Given the description of an element on the screen output the (x, y) to click on. 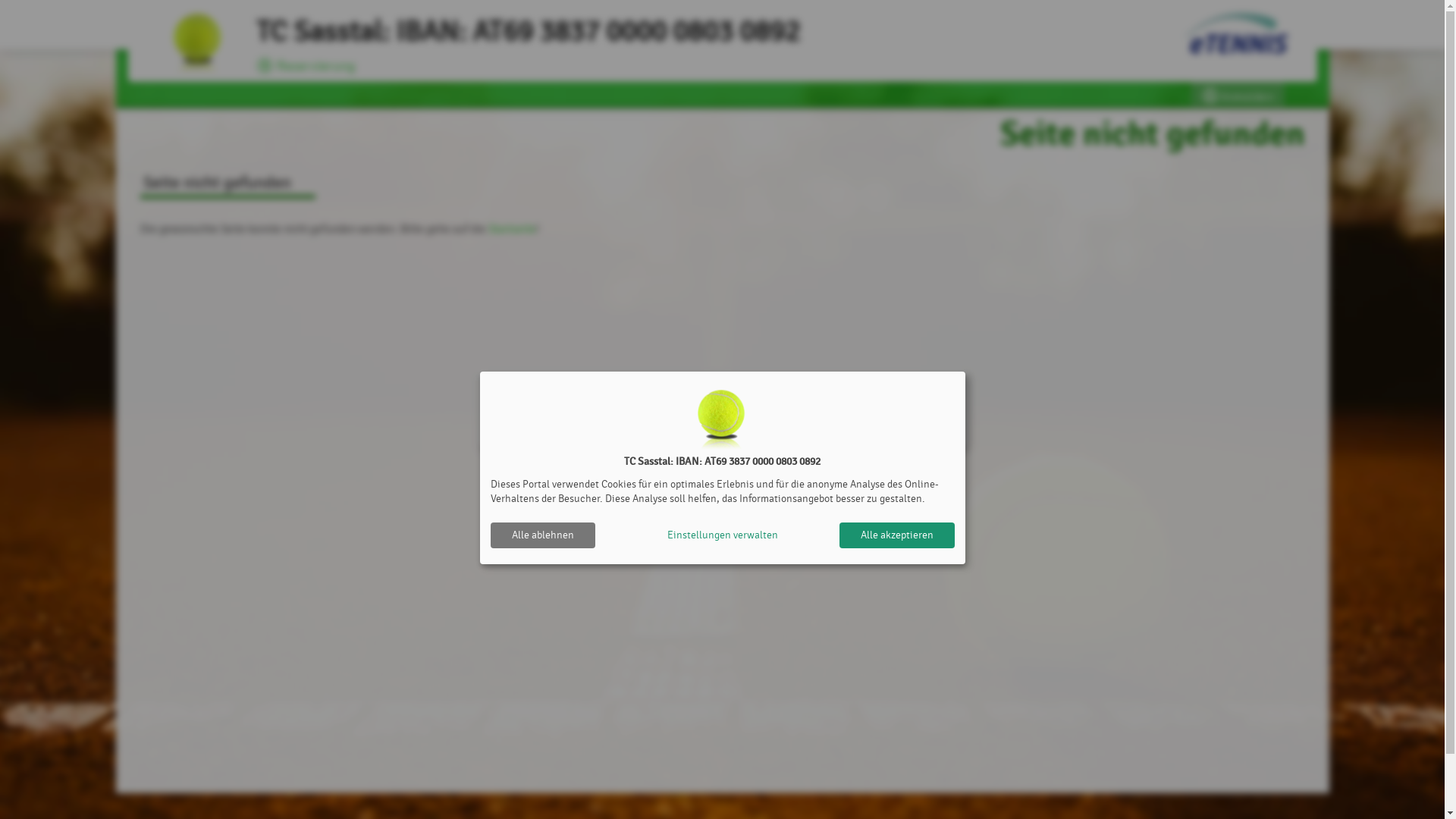
Anmelden Element type: text (1236, 93)
TC Sasstal: IBAN: AT69 3837 0000 0803 0892 Element type: text (528, 31)
Reservierung Element type: text (305, 65)
Mehr zu eTennis Element type: hover (1234, 34)
Einstellungen verwalten Element type: text (721, 534)
Alle ablehnen Element type: text (541, 535)
TC Sasstal: IBAN: AT69 3837 0000 0803 0892  Element type: hover (197, 43)
Startseite Element type: text (512, 228)
Alle akzeptieren Element type: text (895, 535)
